Given the description of an element on the screen output the (x, y) to click on. 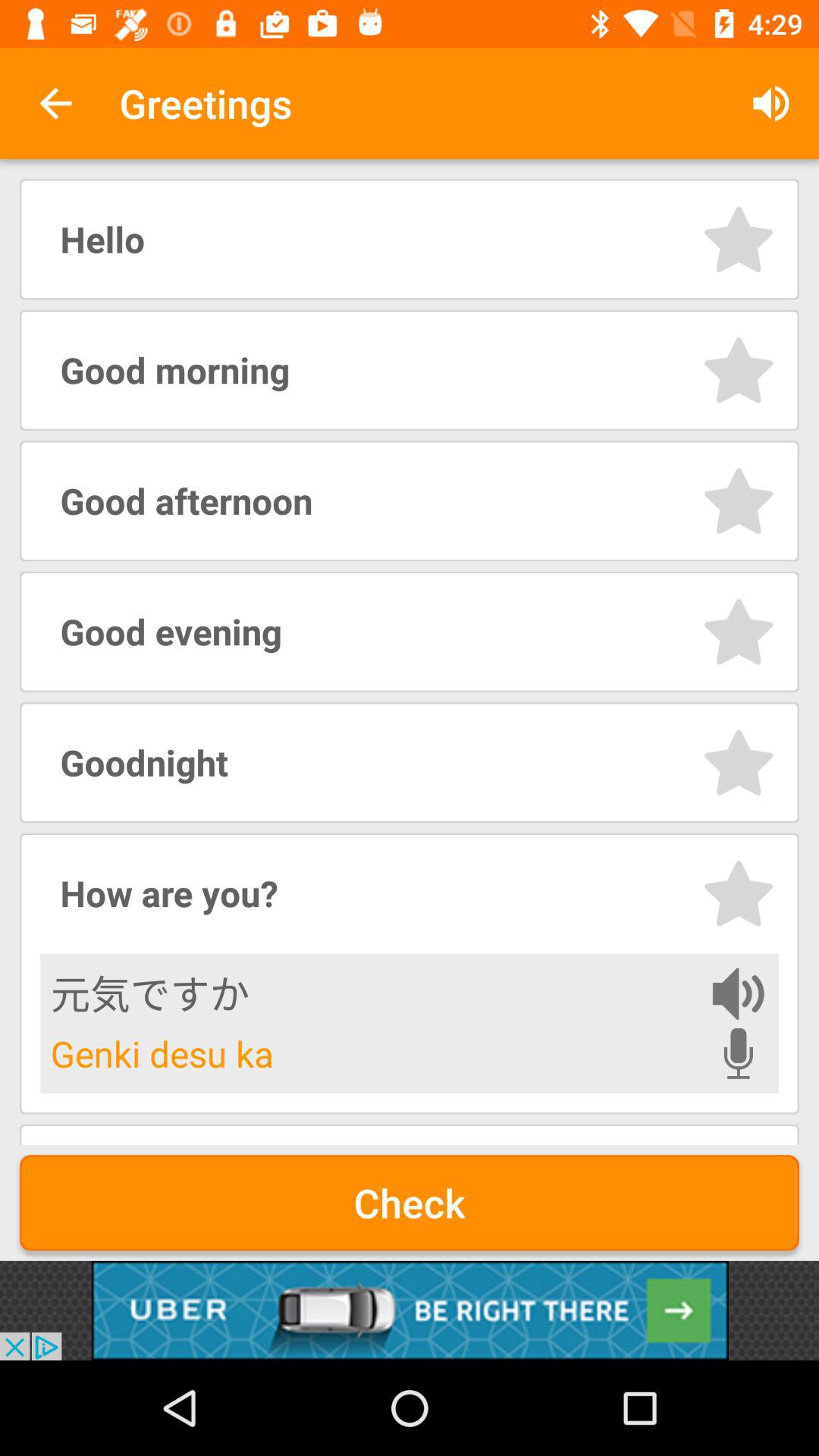
select option (738, 370)
